Given the description of an element on the screen output the (x, y) to click on. 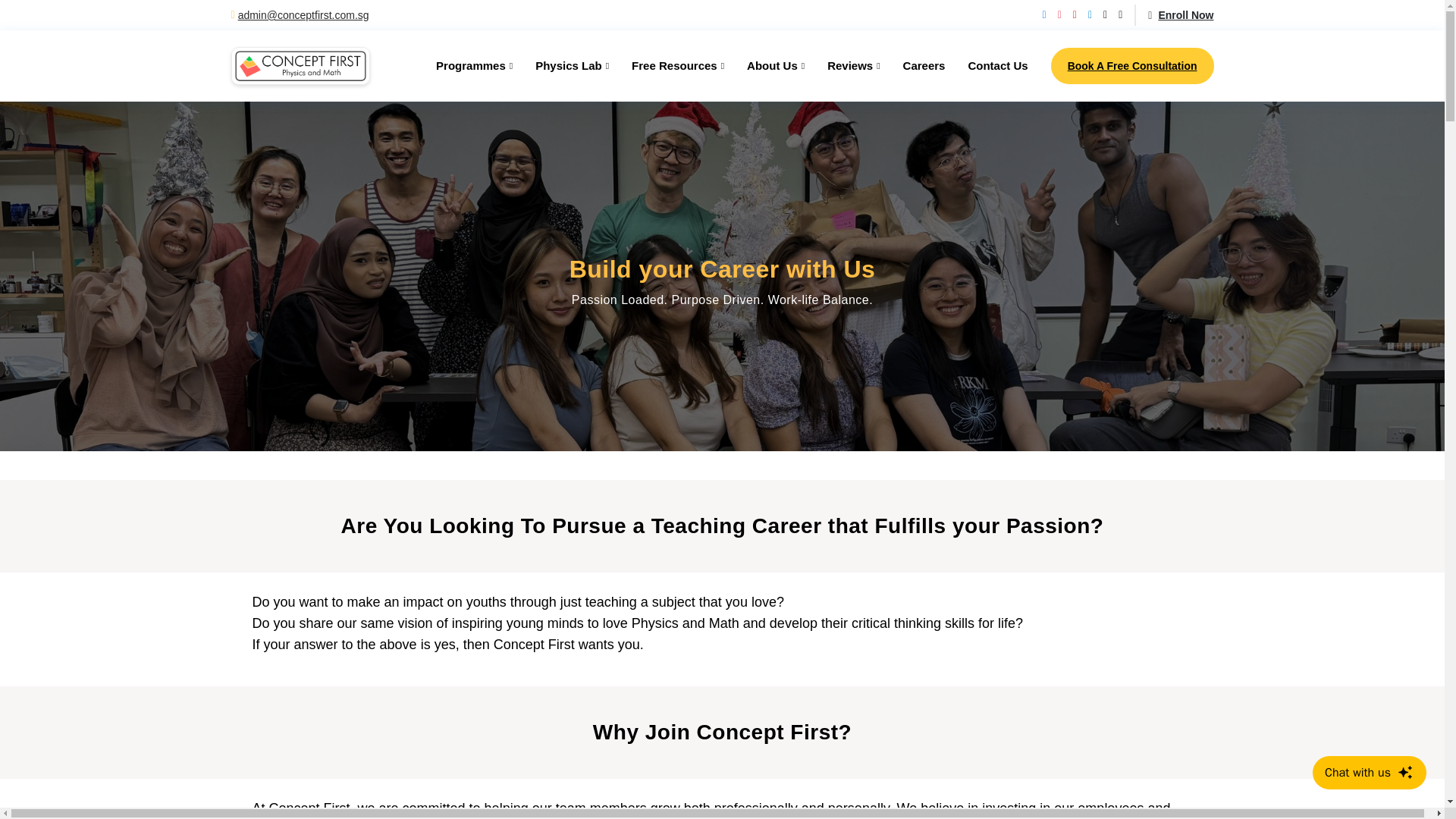
Programmes (462, 65)
Enroll Now (1173, 14)
Physics Lab (560, 65)
Careers (912, 65)
Free Resources (665, 65)
Contact Us (985, 65)
About Us (764, 65)
Book A Free Consultation (1132, 65)
Reviews (842, 65)
